Given the description of an element on the screen output the (x, y) to click on. 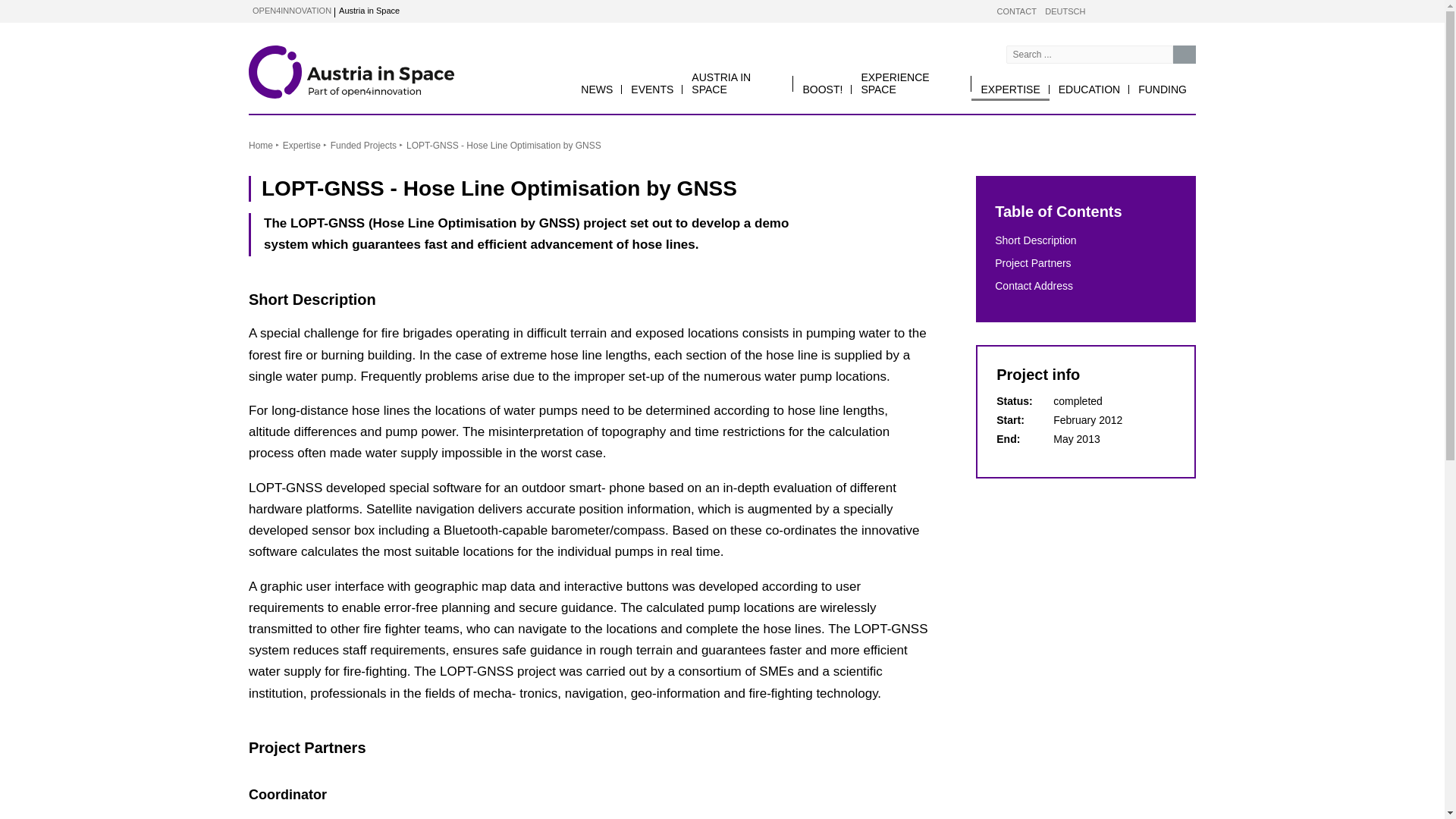
AUSTRIA IN SPACE (737, 83)
Search ... (1184, 54)
EVENTS (651, 89)
Austria in Space Instagram (1189, 11)
NEWS (596, 89)
CONTACT (1016, 11)
Austria in Space LinkedIn (1161, 11)
OPEN4INNOVATION (291, 10)
FOLGEN SIE UNS AUF AUSTRIA IN SPACE LINKEDIN (1161, 11)
